Given the description of an element on the screen output the (x, y) to click on. 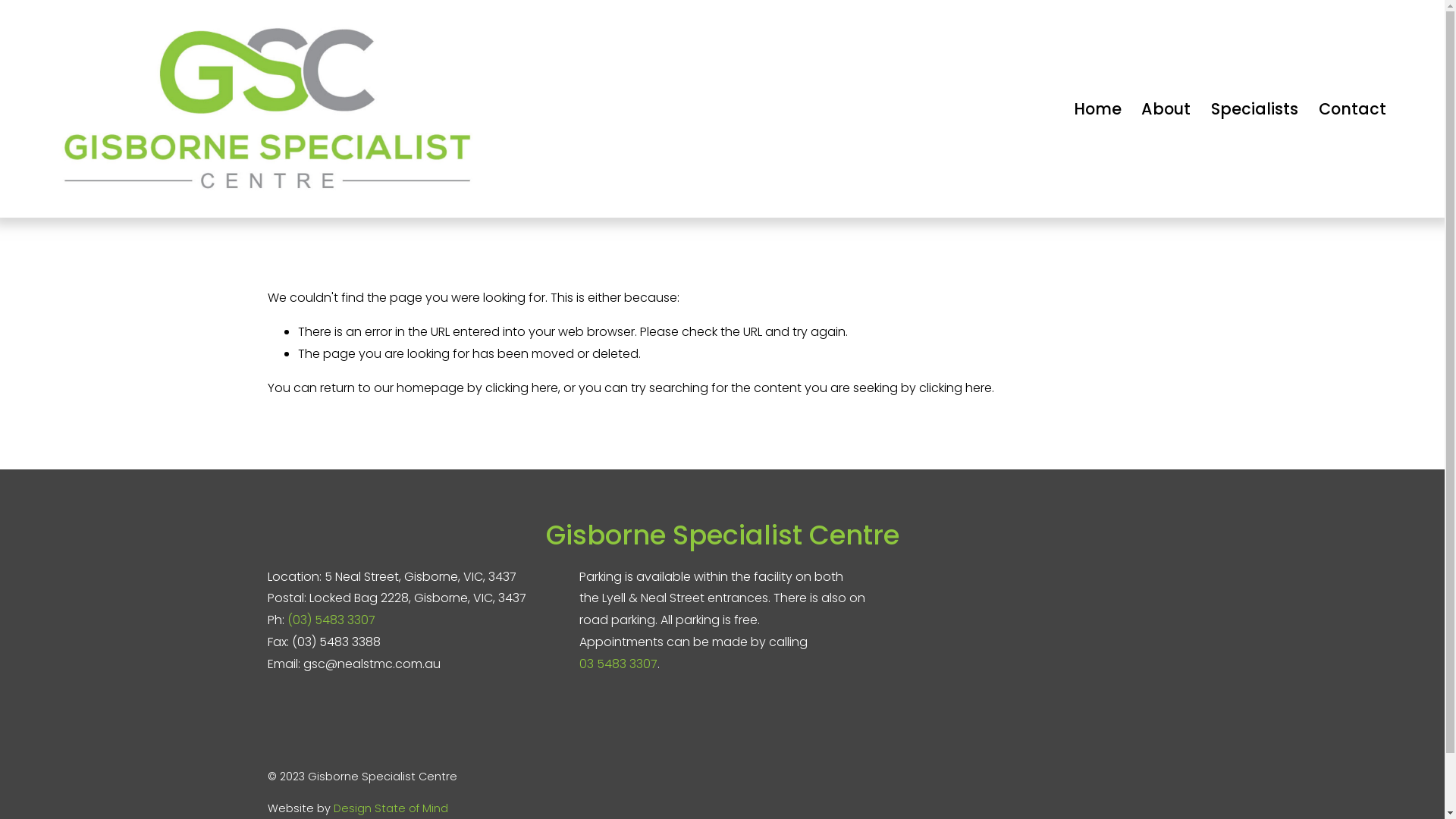
(03) 5483 3307 Element type: text (330, 620)
About Element type: text (1165, 108)
03 5483 3307 Element type: text (618, 664)
Specialists Element type: text (1254, 108)
clicking here Element type: text (521, 387)
Home Element type: text (1097, 108)
Contact Element type: text (1352, 108)
clicking here Element type: text (955, 387)
